Given the description of an element on the screen output the (x, y) to click on. 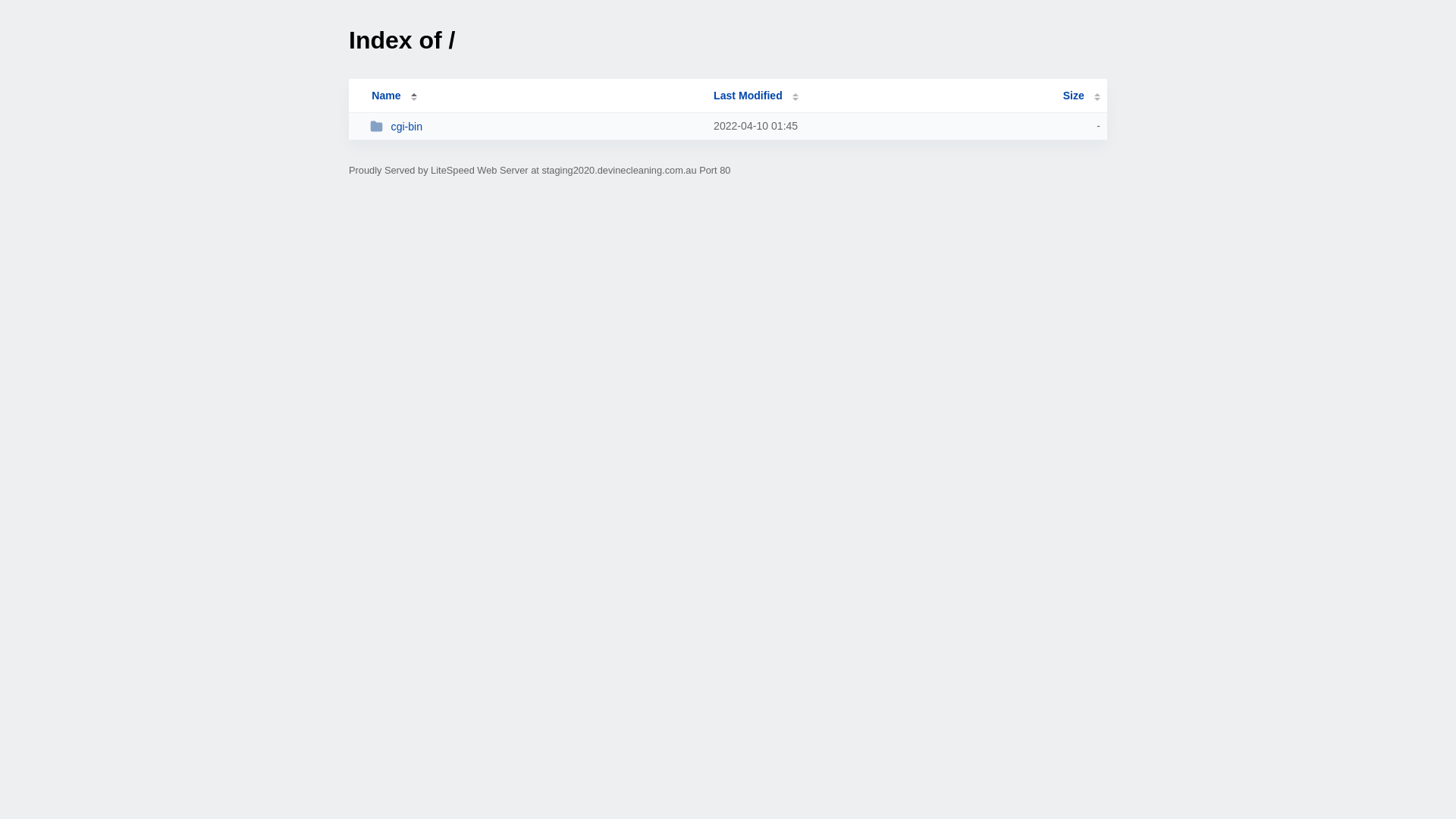
Last Modified Element type: text (755, 95)
Size Element type: text (1081, 95)
cgi-bin Element type: text (534, 125)
Name Element type: text (385, 95)
